Given the description of an element on the screen output the (x, y) to click on. 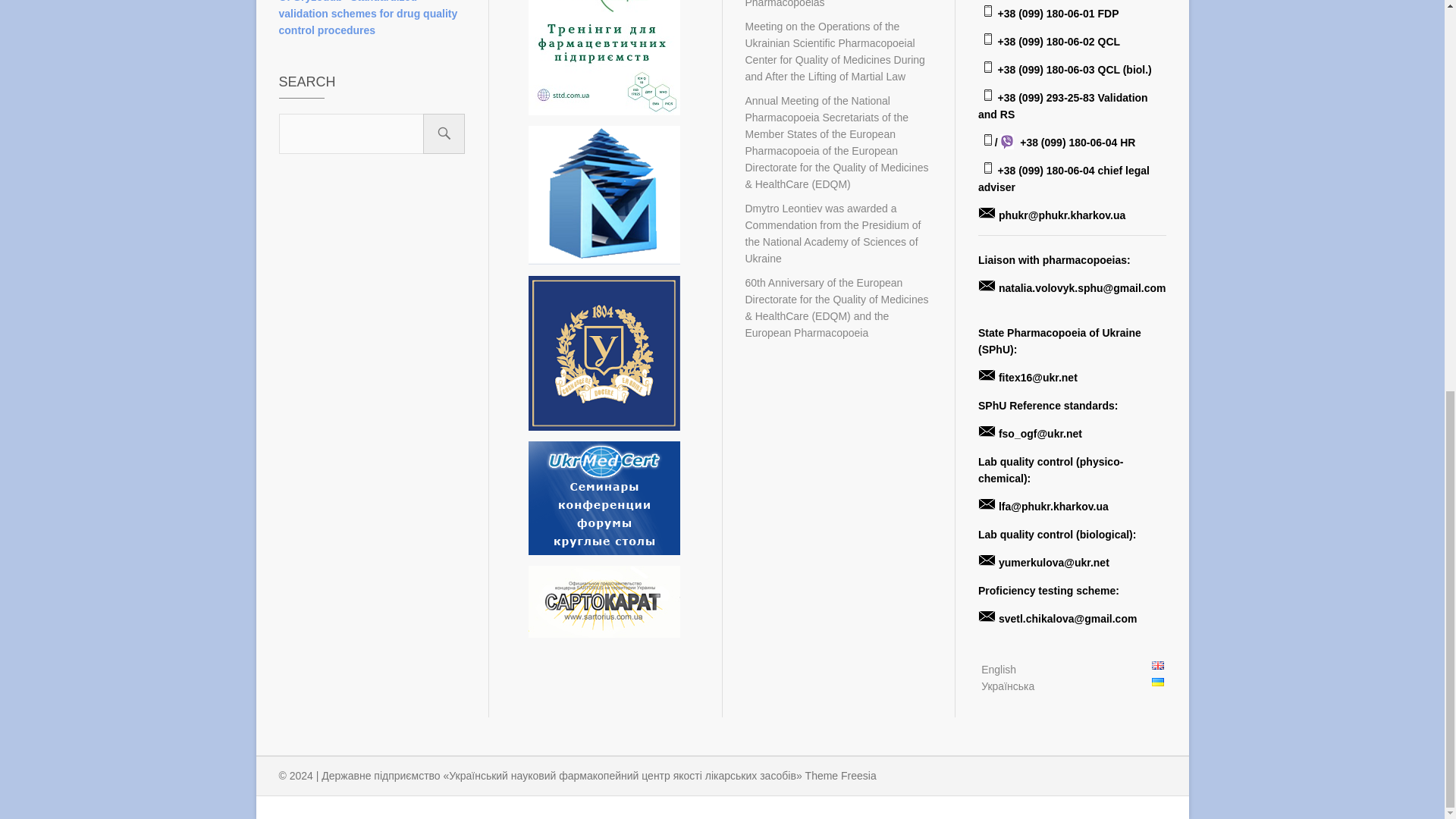
Themefreesia (840, 775)
Viber (1006, 141)
English (1157, 664)
